Given the description of an element on the screen output the (x, y) to click on. 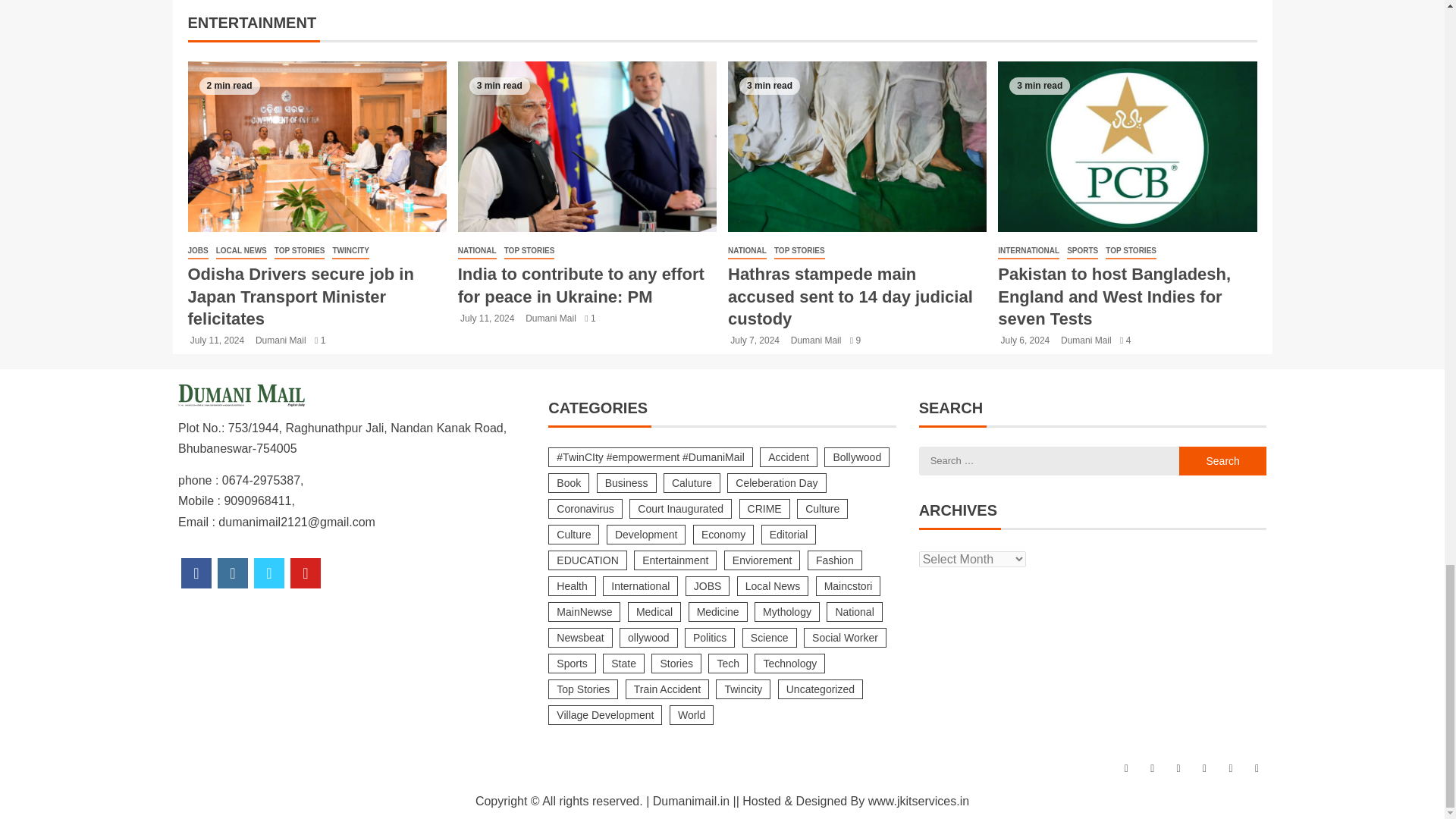
Search (1222, 460)
Search (1222, 460)
